Given the description of an element on the screen output the (x, y) to click on. 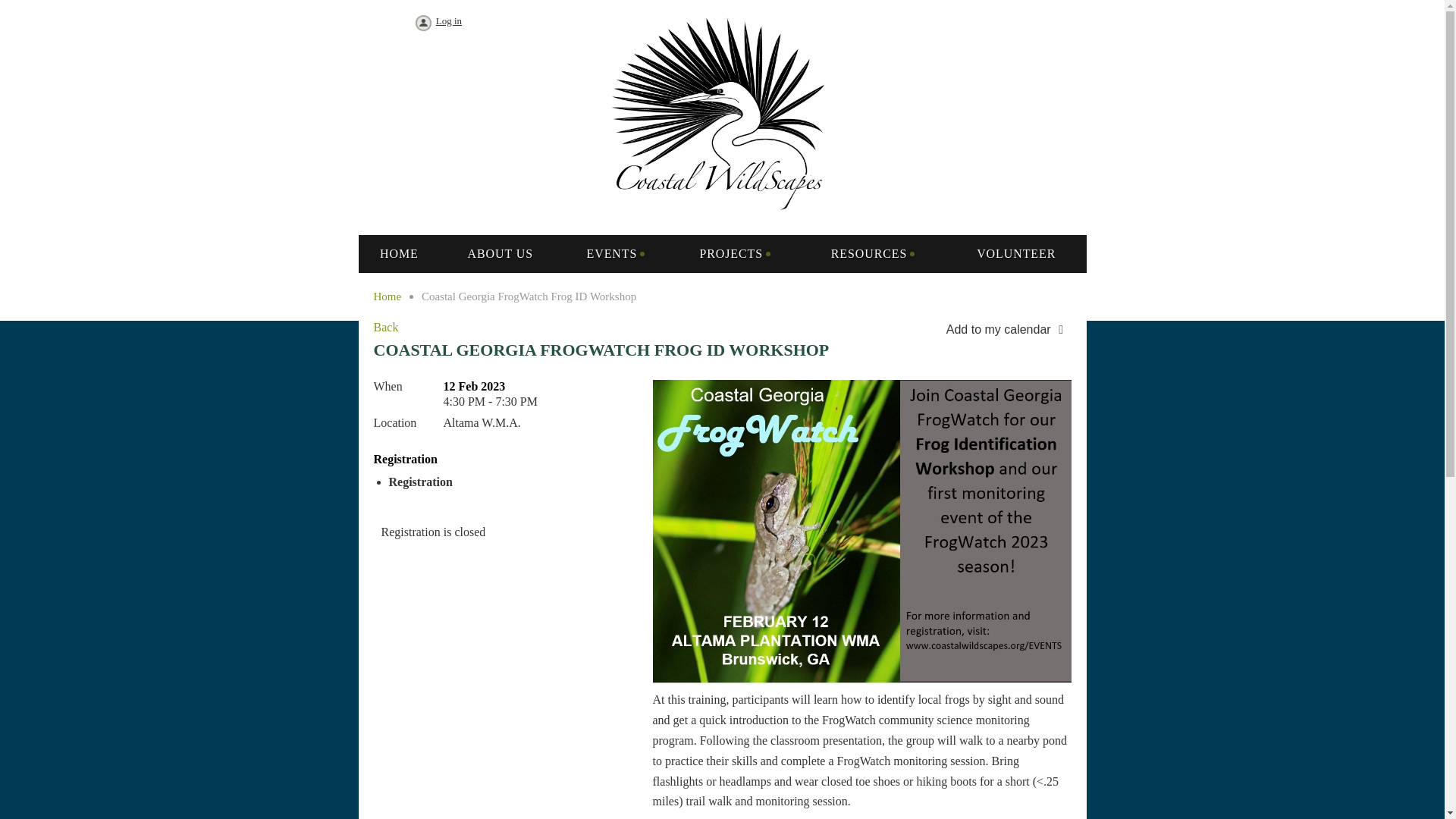
Log in (437, 24)
Home (398, 253)
ABOUT US (499, 253)
Home (386, 296)
EVENTS (614, 253)
ABOUT US (499, 253)
PROJECTS (734, 253)
EVENTS (614, 253)
Resources (872, 253)
HOME (398, 253)
